Given the description of an element on the screen output the (x, y) to click on. 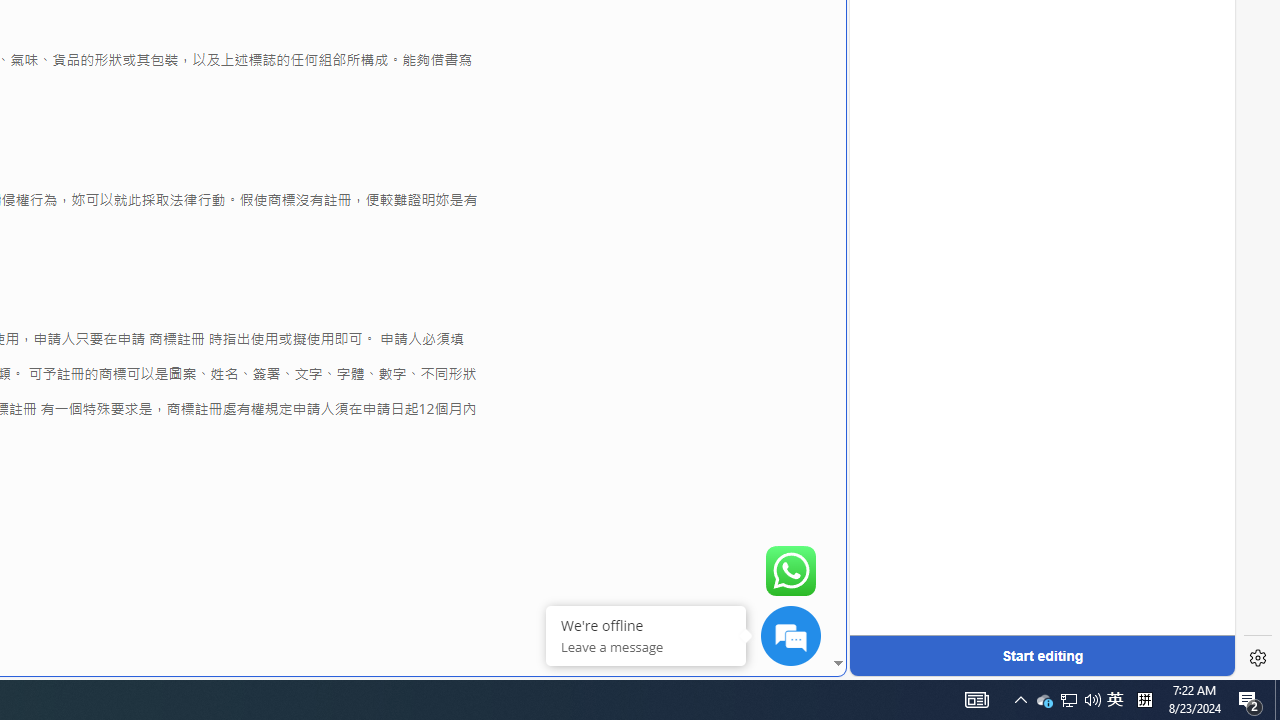
google_privacy_policy_zh-CN.pdf (687, 482)
Actions for this site (1129, 306)
